Given the description of an element on the screen output the (x, y) to click on. 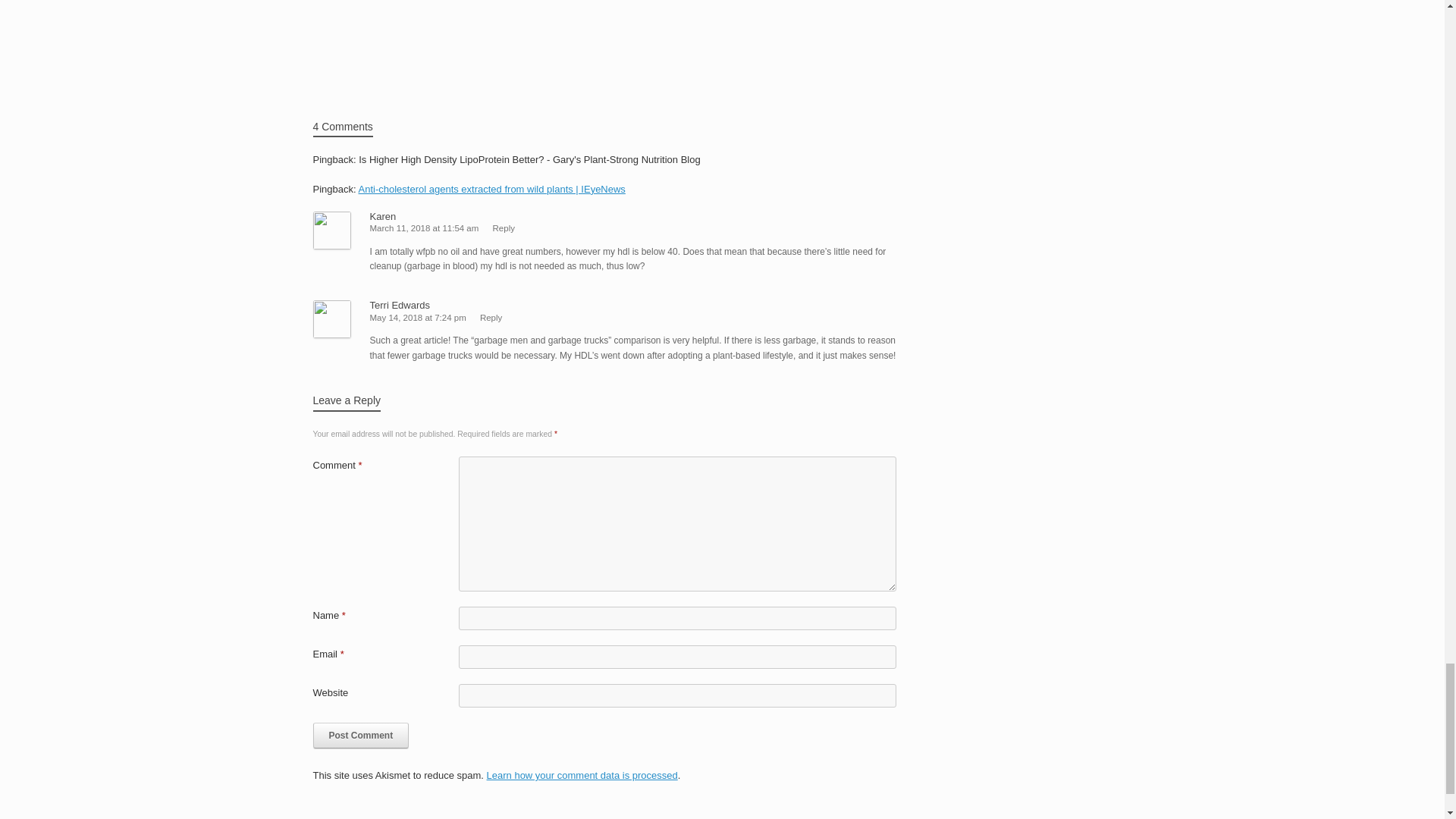
Post Comment (361, 735)
